Given the description of an element on the screen output the (x, y) to click on. 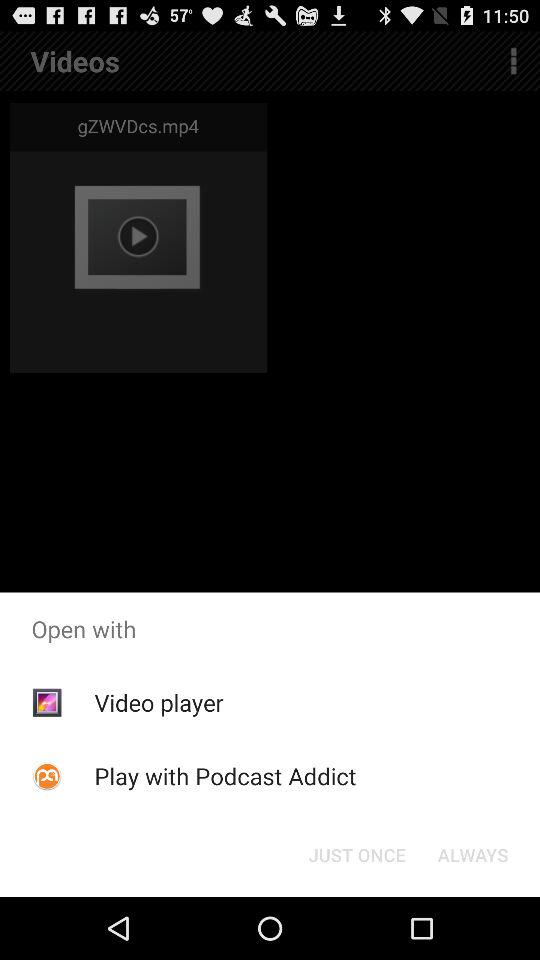
press the always item (472, 854)
